Given the description of an element on the screen output the (x, y) to click on. 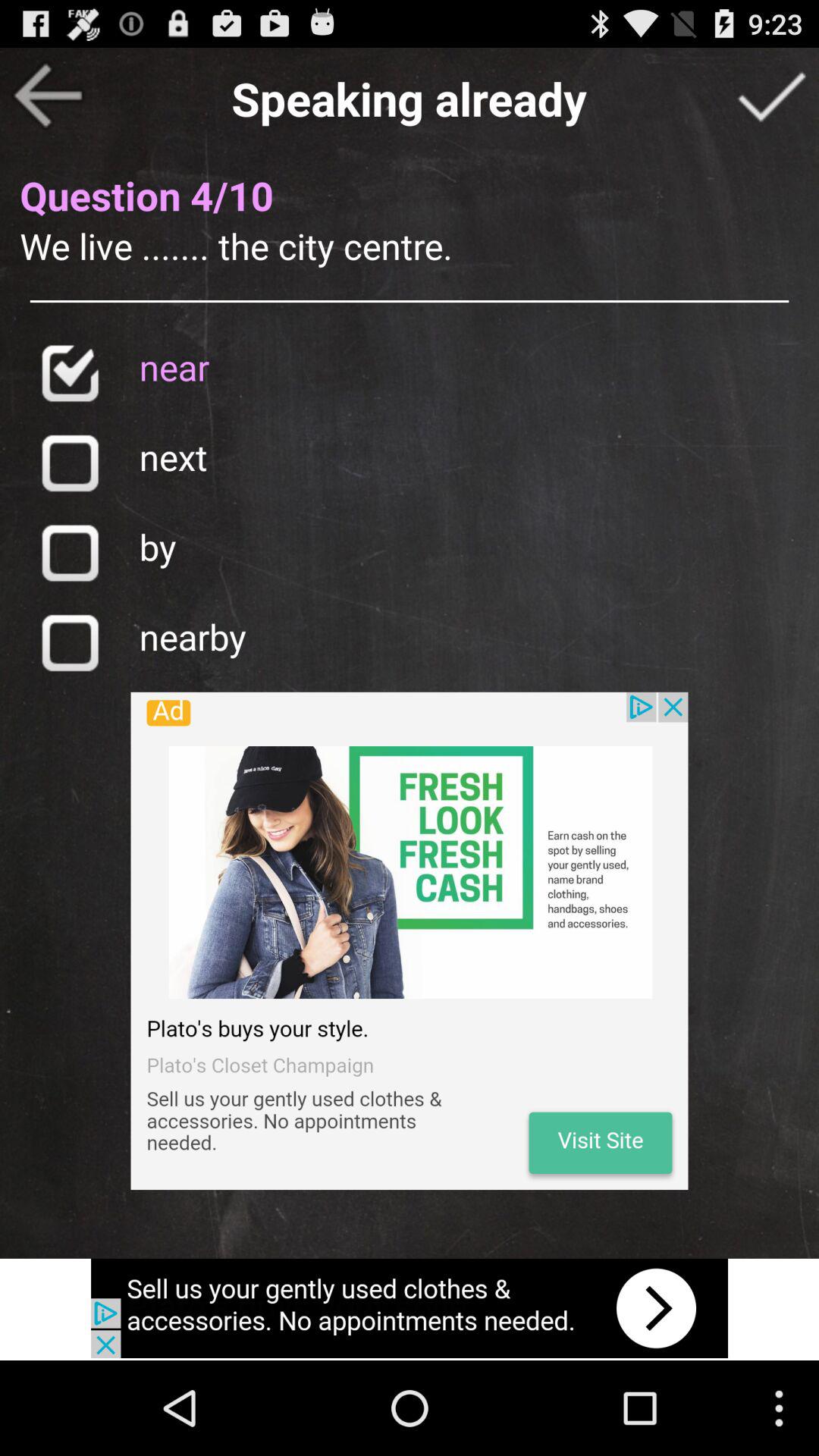
next (69, 462)
